Given the description of an element on the screen output the (x, y) to click on. 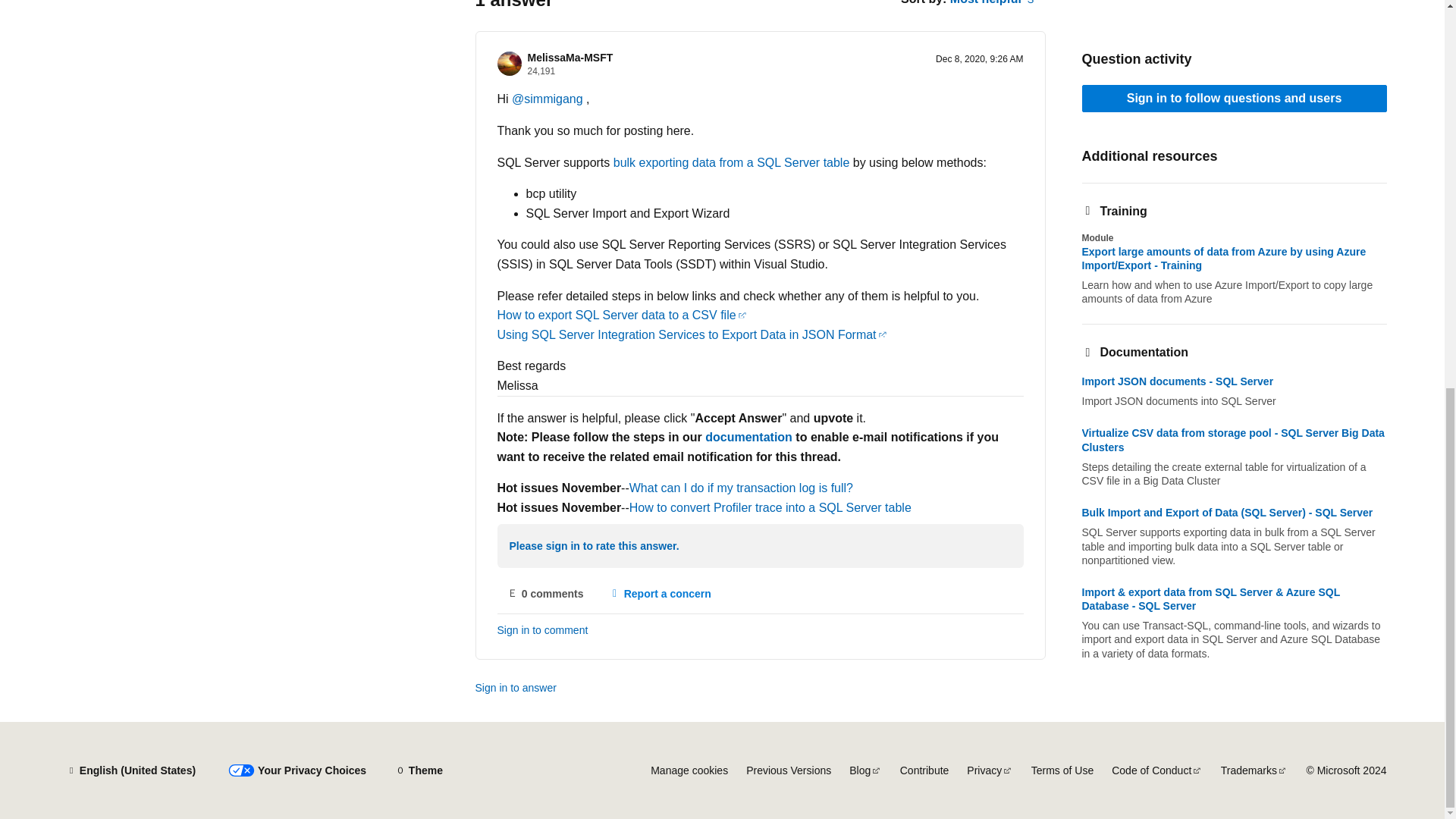
Report a concern (659, 593)
Reputation points (541, 71)
No comments (545, 593)
